Given the description of an element on the screen output the (x, y) to click on. 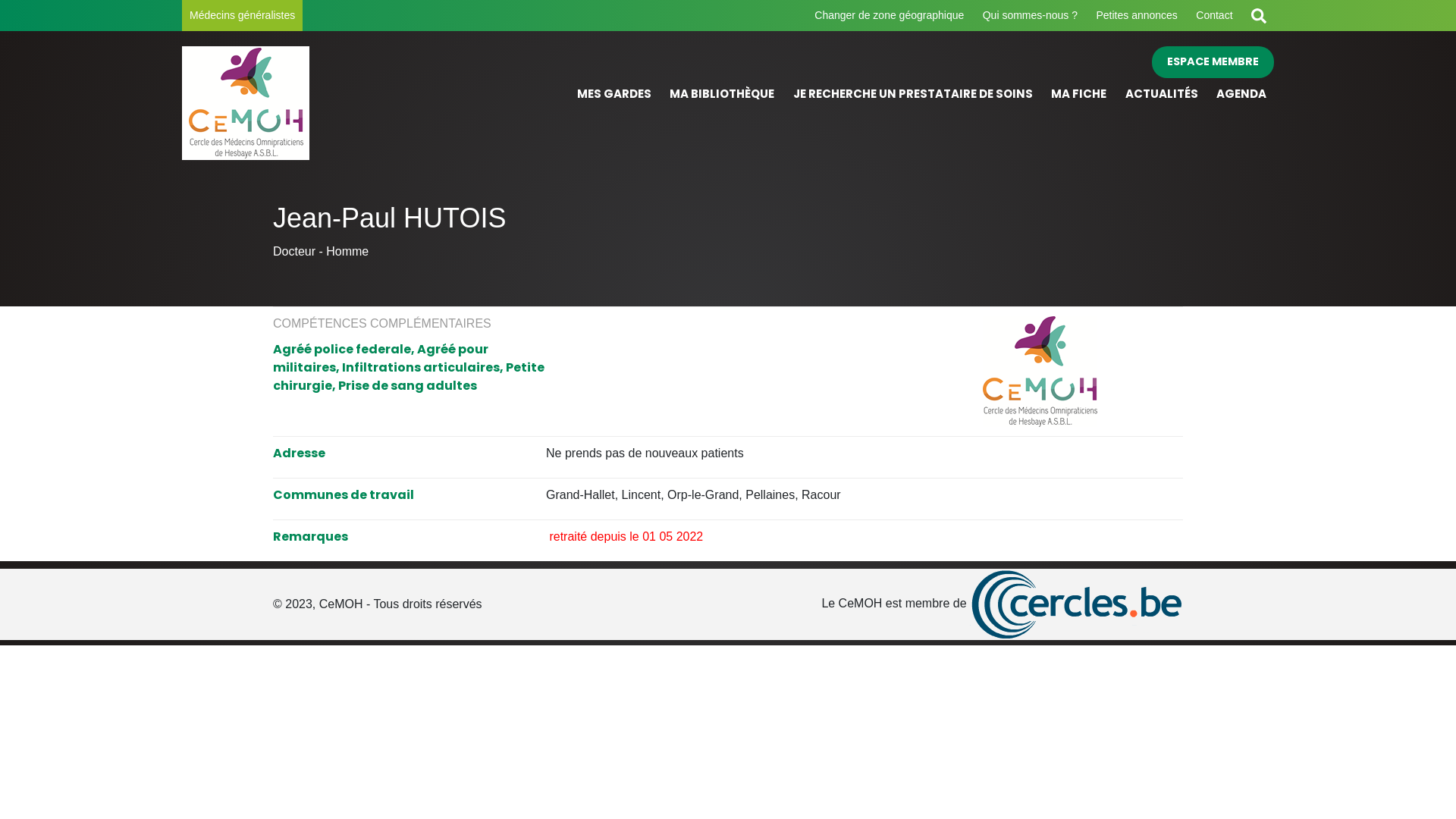
Rechercher Element type: hover (1258, 15)
AGENDA Element type: text (1241, 94)
JE RECHERCHE UN PRESTATAIRE DE SOINS Element type: text (912, 94)
Petites annonces Element type: text (1136, 15)
Qui sommes-nous ? Element type: text (1030, 15)
ESPACE MEMBRE Element type: text (1212, 62)
Contact Element type: text (1213, 15)
MES GARDES Element type: text (613, 94)
MA FICHE Element type: text (1078, 94)
